Given the description of an element on the screen output the (x, y) to click on. 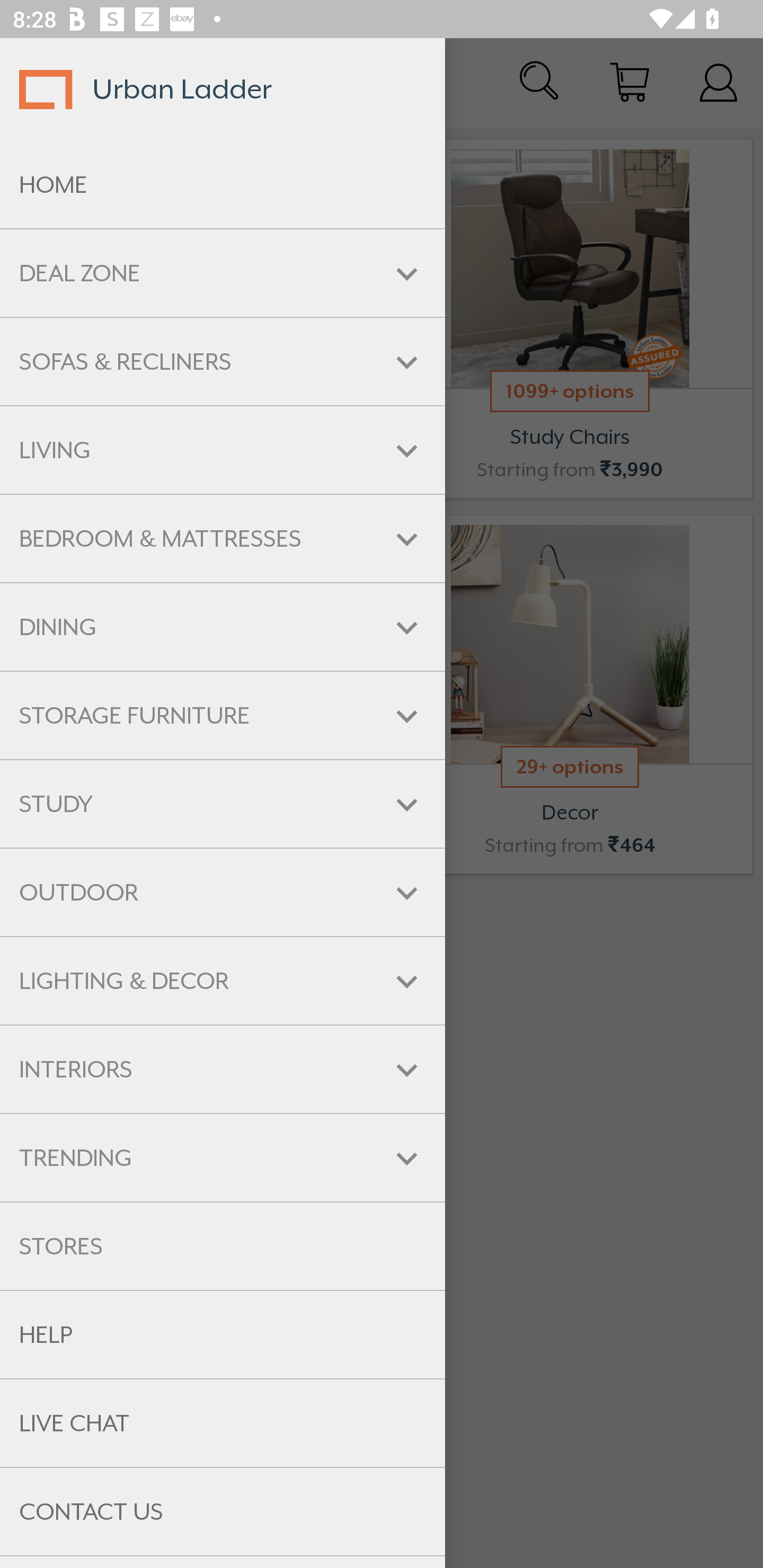
Urban Ladder (222, 89)
HOME (222, 184)
DEAL ZONE  (222, 273)
SOFAS & RECLINERS  (222, 361)
LIVING  (222, 450)
BEDROOM & MATTRESSES  (222, 538)
DINING  (222, 627)
STORAGE FURNITURE  (222, 715)
STUDY  (222, 803)
OUTDOOR  (222, 892)
LIGHTING & DECOR  (222, 980)
INTERIORS  (222, 1069)
TRENDING  (222, 1157)
STORES (222, 1246)
HELP (222, 1334)
LIVE CHAT (222, 1422)
CONTACT US (222, 1512)
